Given the description of an element on the screen output the (x, y) to click on. 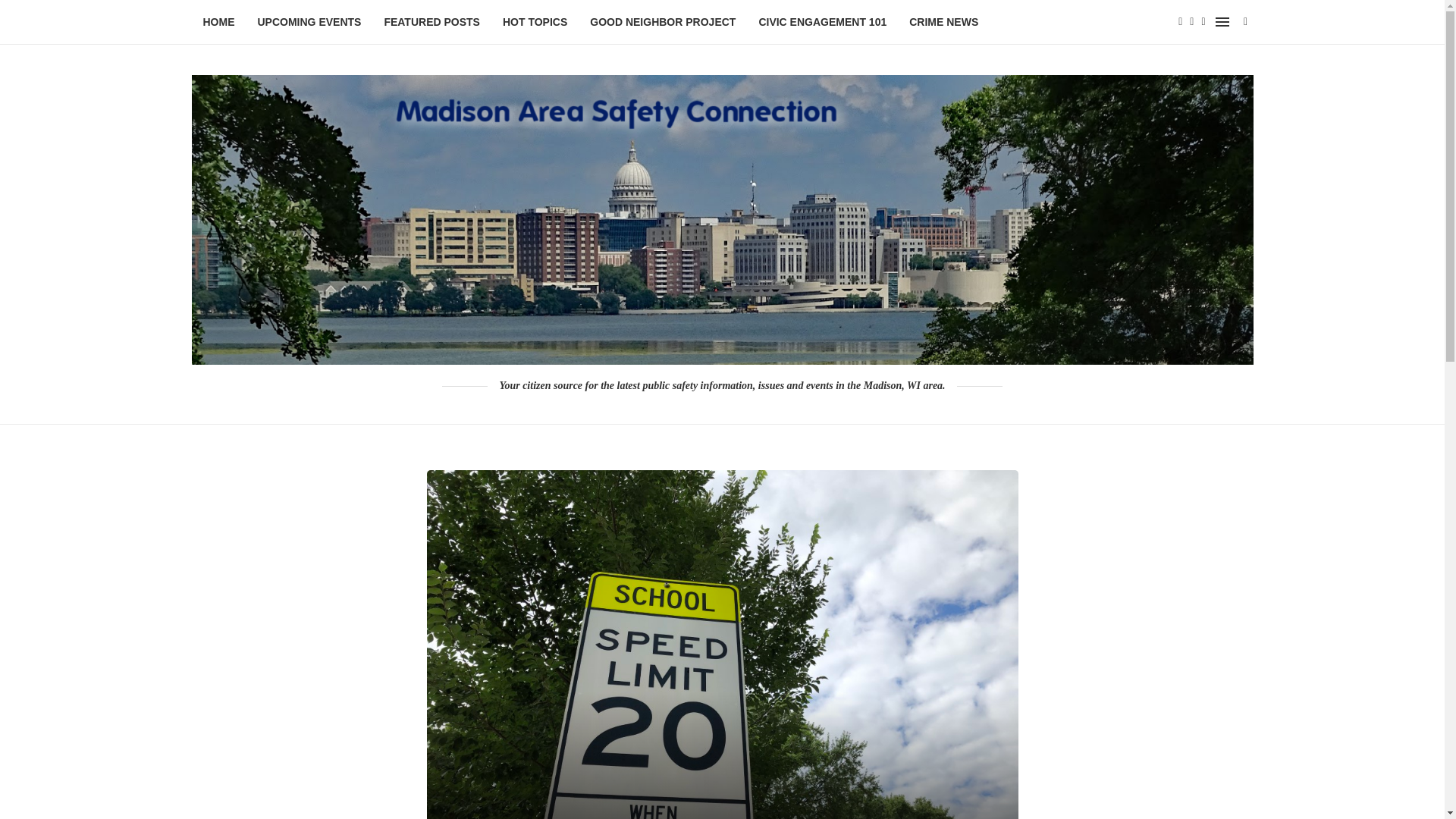
HOME (218, 22)
FEATURED POSTS (432, 22)
GOOD NEIGHBOR PROJECT (662, 22)
HOT TOPICS (535, 22)
CRIME NEWS (944, 22)
CIVIC ENGAGEMENT 101 (822, 22)
UPCOMING EVENTS (309, 22)
